Given the description of an element on the screen output the (x, y) to click on. 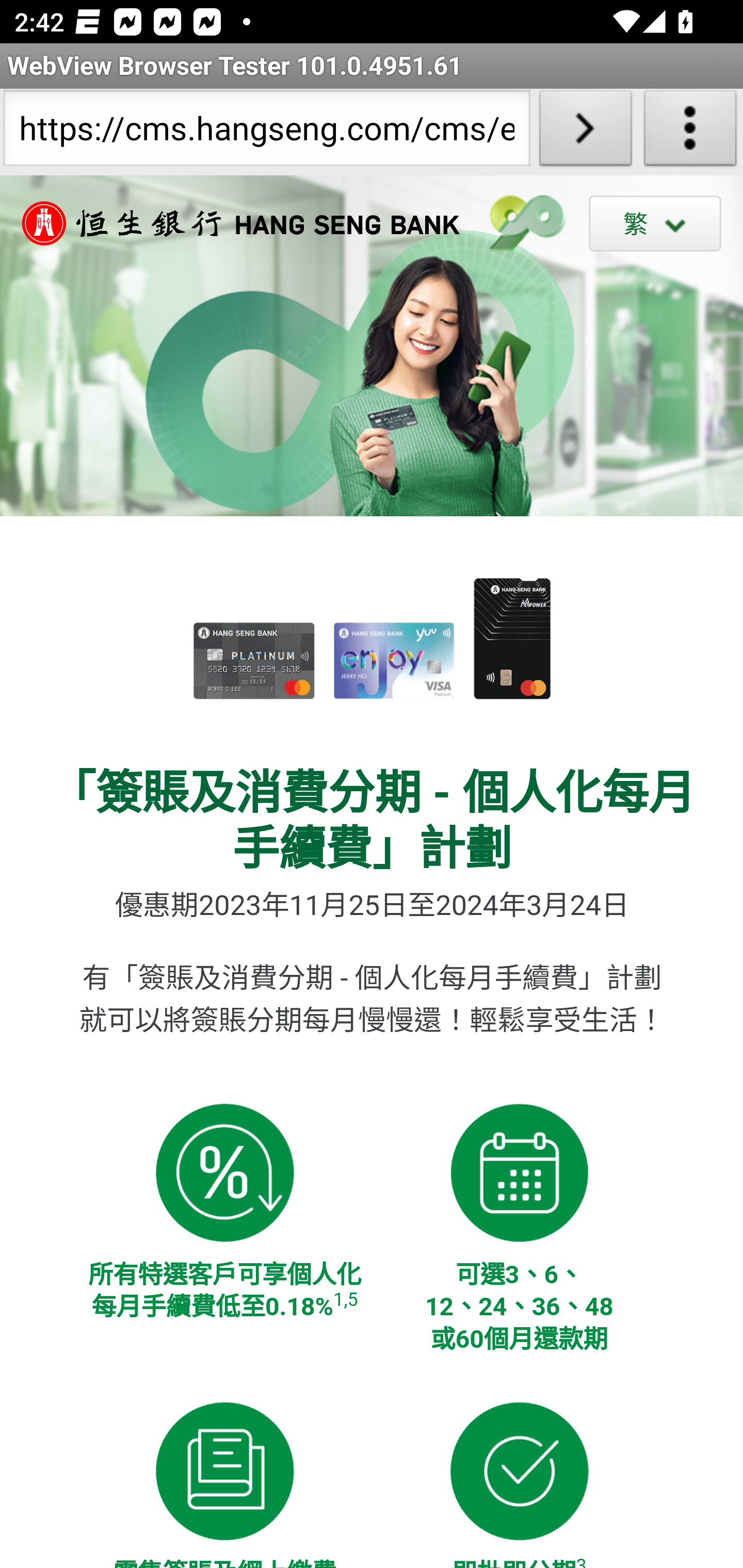
Load URL (585, 132)
About WebView (690, 132)
恒生銀行 Hang Sang Bank (231, 223)
繁 繁    (655, 223)
